Given the description of an element on the screen output the (x, y) to click on. 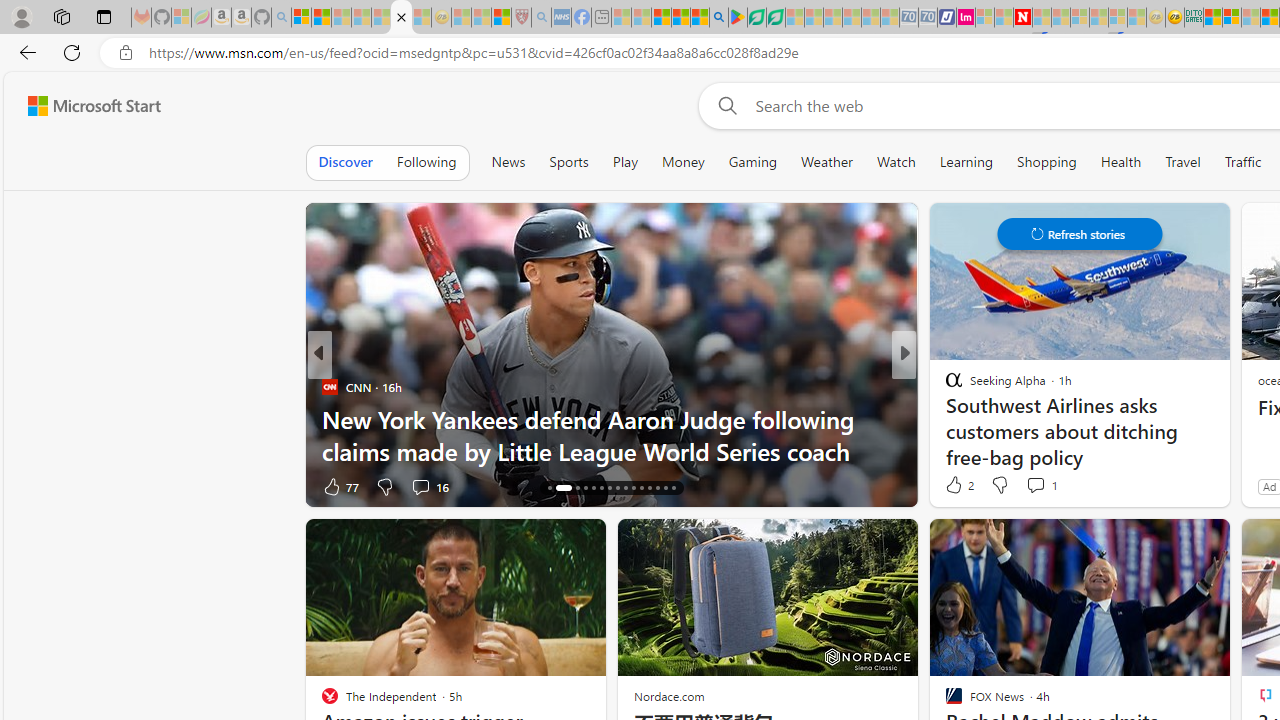
22 Like (956, 486)
Pets - MSN (680, 17)
Scripps News (944, 386)
The Washington Post (944, 386)
AutomationID: tab-20 (592, 487)
save70.com (352, 386)
